Given the description of an element on the screen output the (x, y) to click on. 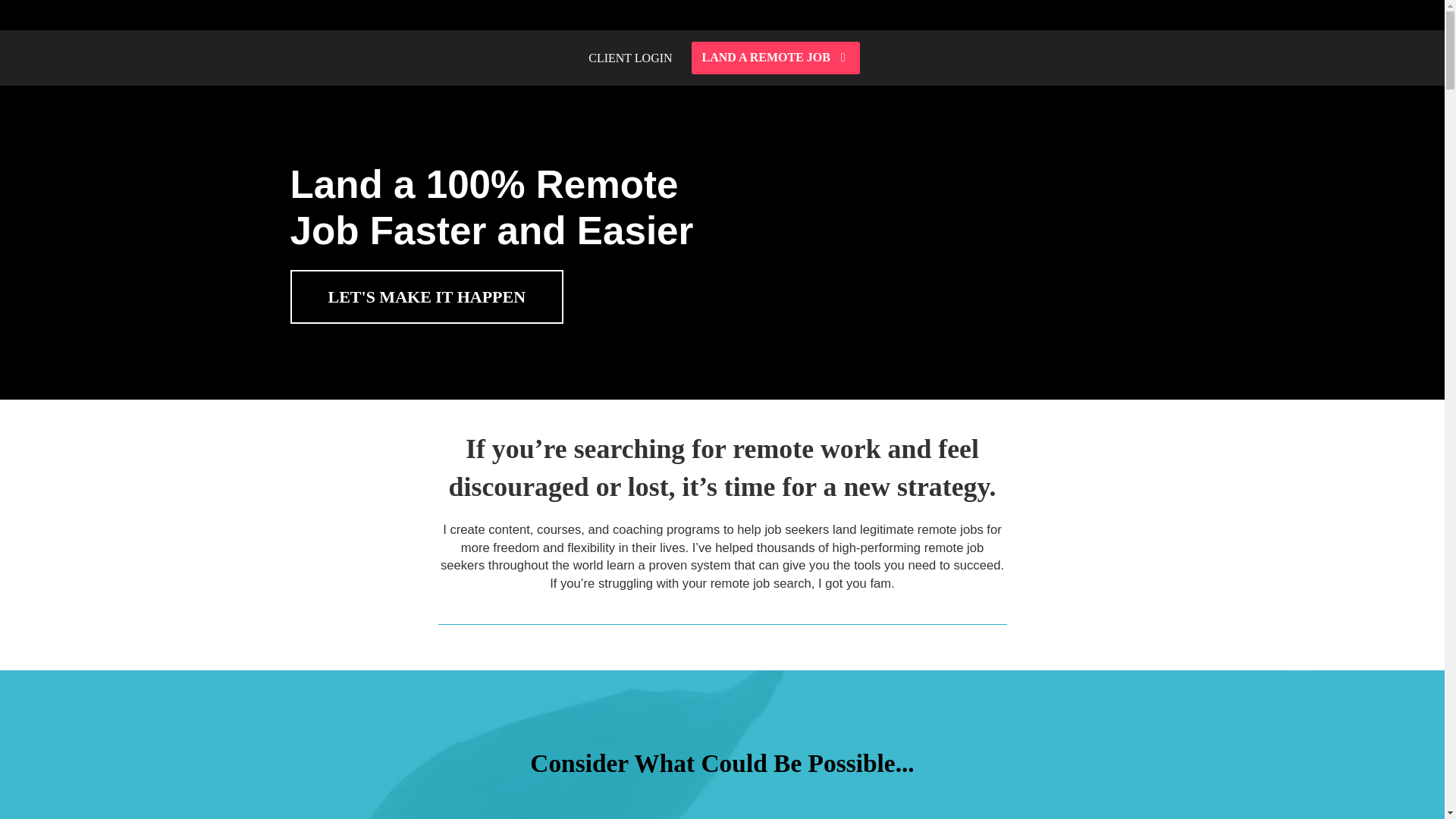
CLIENT LOGIN (629, 59)
LAND A REMOTE JOB (775, 57)
LET'S MAKE IT HAPPEN (426, 296)
